Given the description of an element on the screen output the (x, y) to click on. 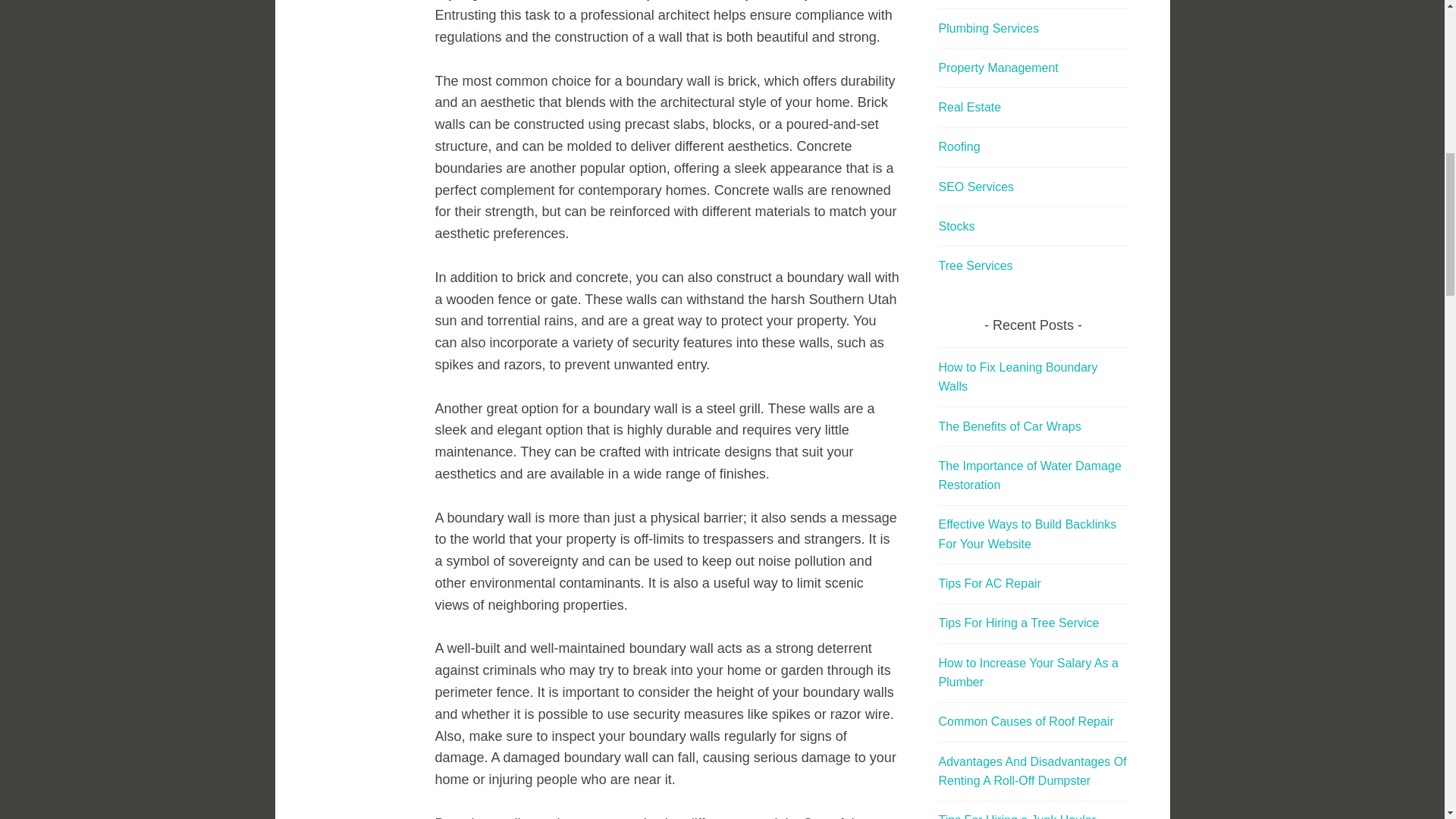
Property Management (998, 67)
The Importance of Water Damage Restoration (1030, 475)
Stocks (957, 226)
Effective Ways to Build Backlinks For Your Website (1027, 533)
Tree Services (976, 265)
SEO Services (976, 186)
The Benefits of Car Wraps (1010, 426)
How to Fix Leaning Boundary Walls (1018, 377)
Roofing (959, 146)
Plumbing Services (989, 28)
Real Estate (970, 106)
